Given the description of an element on the screen output the (x, y) to click on. 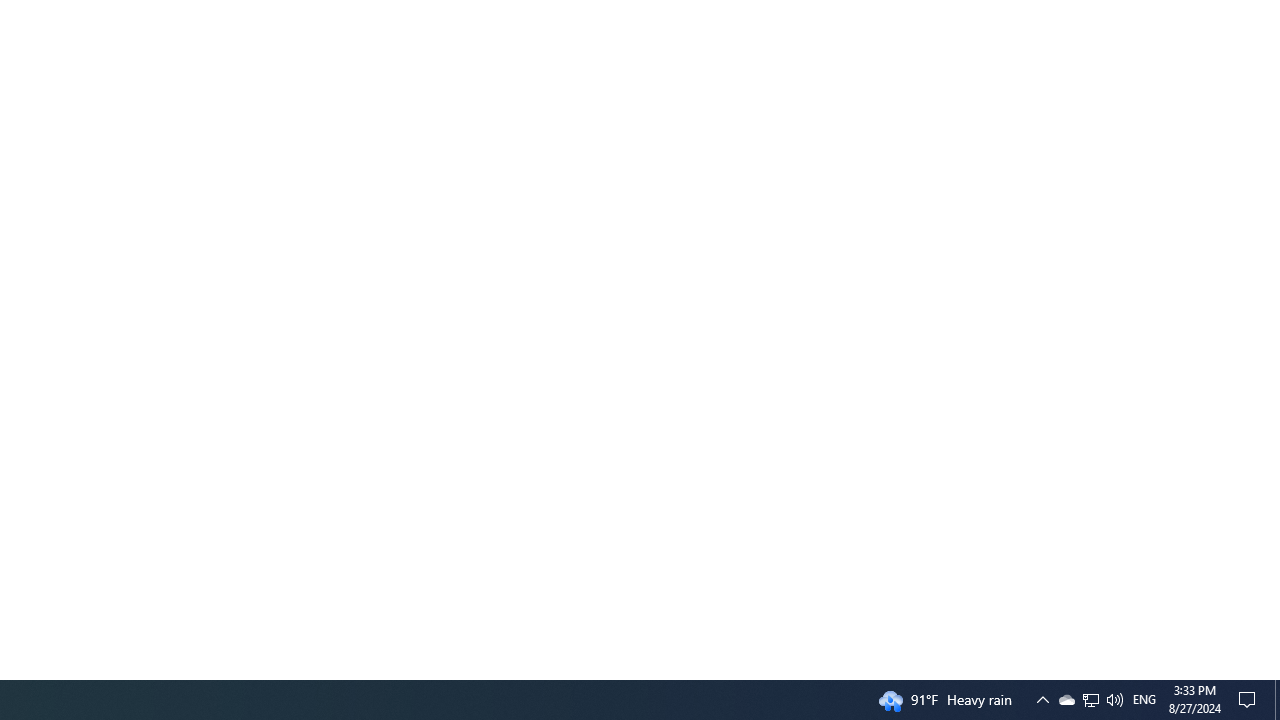
User Promoted Notification Area (1066, 699)
Show desktop (1090, 699)
Notification Chevron (1091, 699)
Action Center, No new notifications (1277, 699)
Q2790: 100% (1042, 699)
Tray Input Indicator - English (United States) (1250, 699)
